Given the description of an element on the screen output the (x, y) to click on. 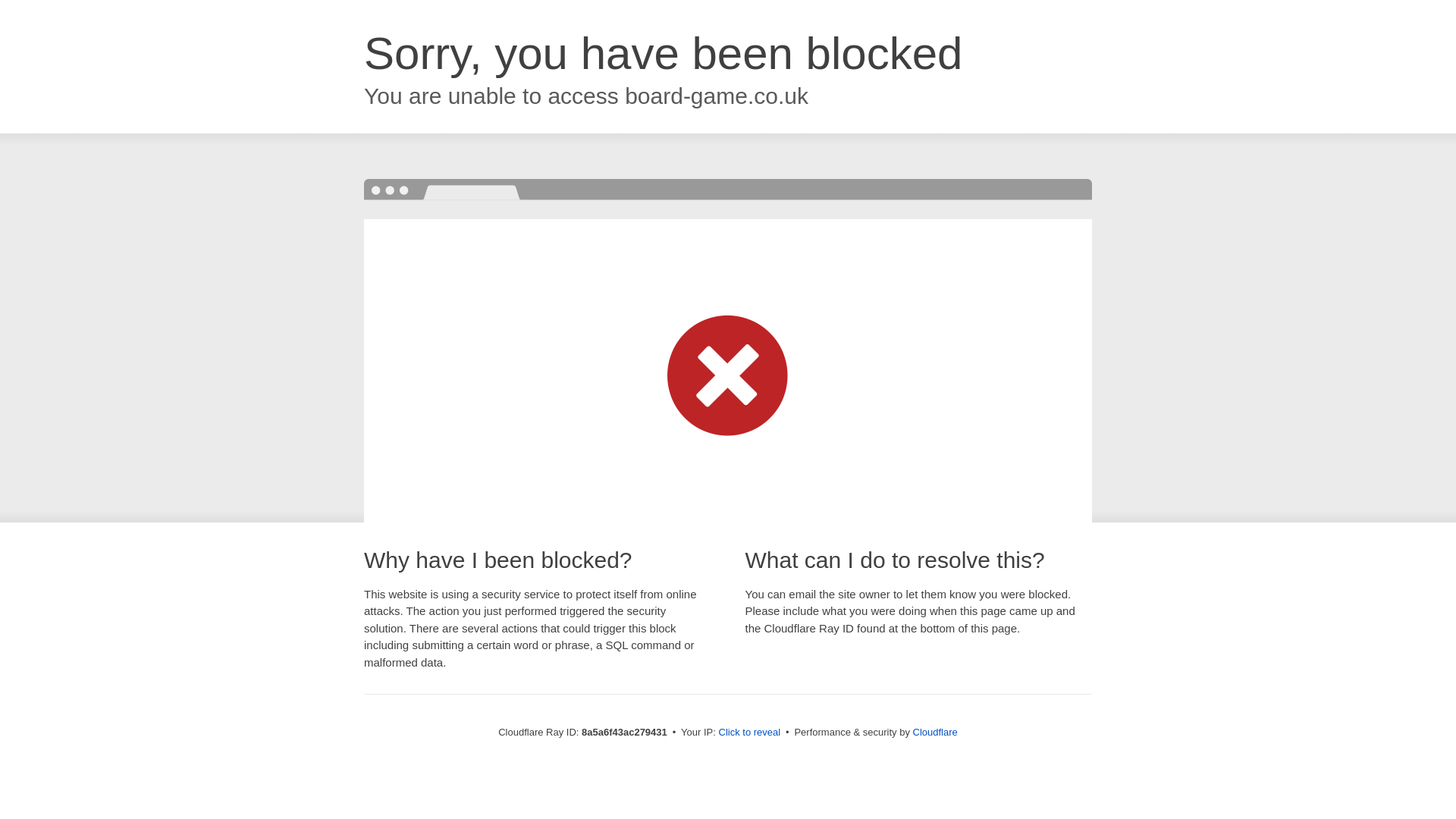
Click to reveal (749, 732)
Cloudflare (935, 731)
